Given the description of an element on the screen output the (x, y) to click on. 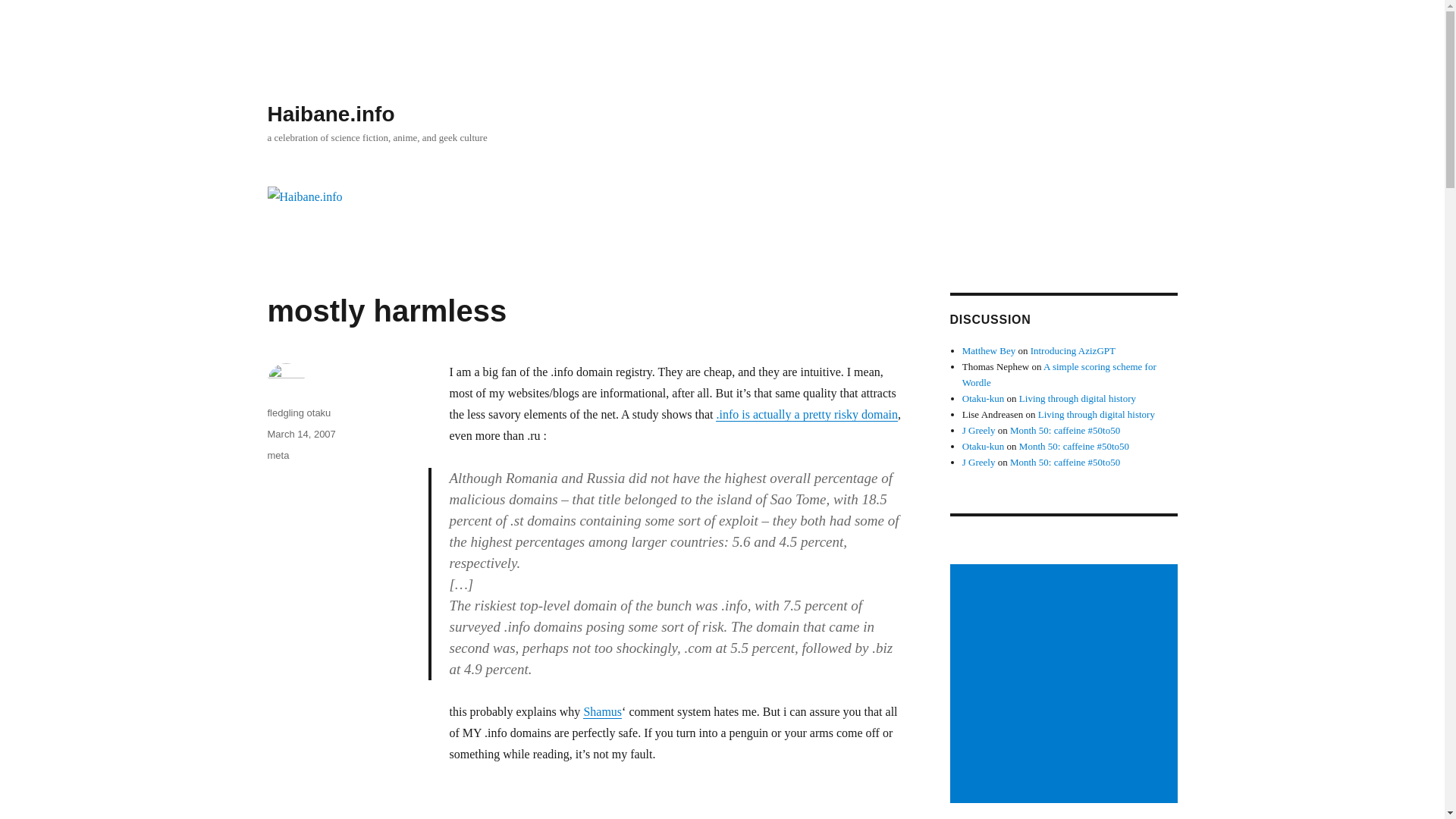
.info is actually a pretty risky domain (807, 413)
J Greely (978, 461)
Living through digital history (1096, 414)
Haibane.info (330, 114)
Otaku-kun (983, 446)
Shamus (602, 711)
Otaku-kun (983, 398)
Matthew Bey (988, 350)
Introducing AzizGPT (1072, 350)
March 14, 2007 (300, 433)
